Given the description of an element on the screen output the (x, y) to click on. 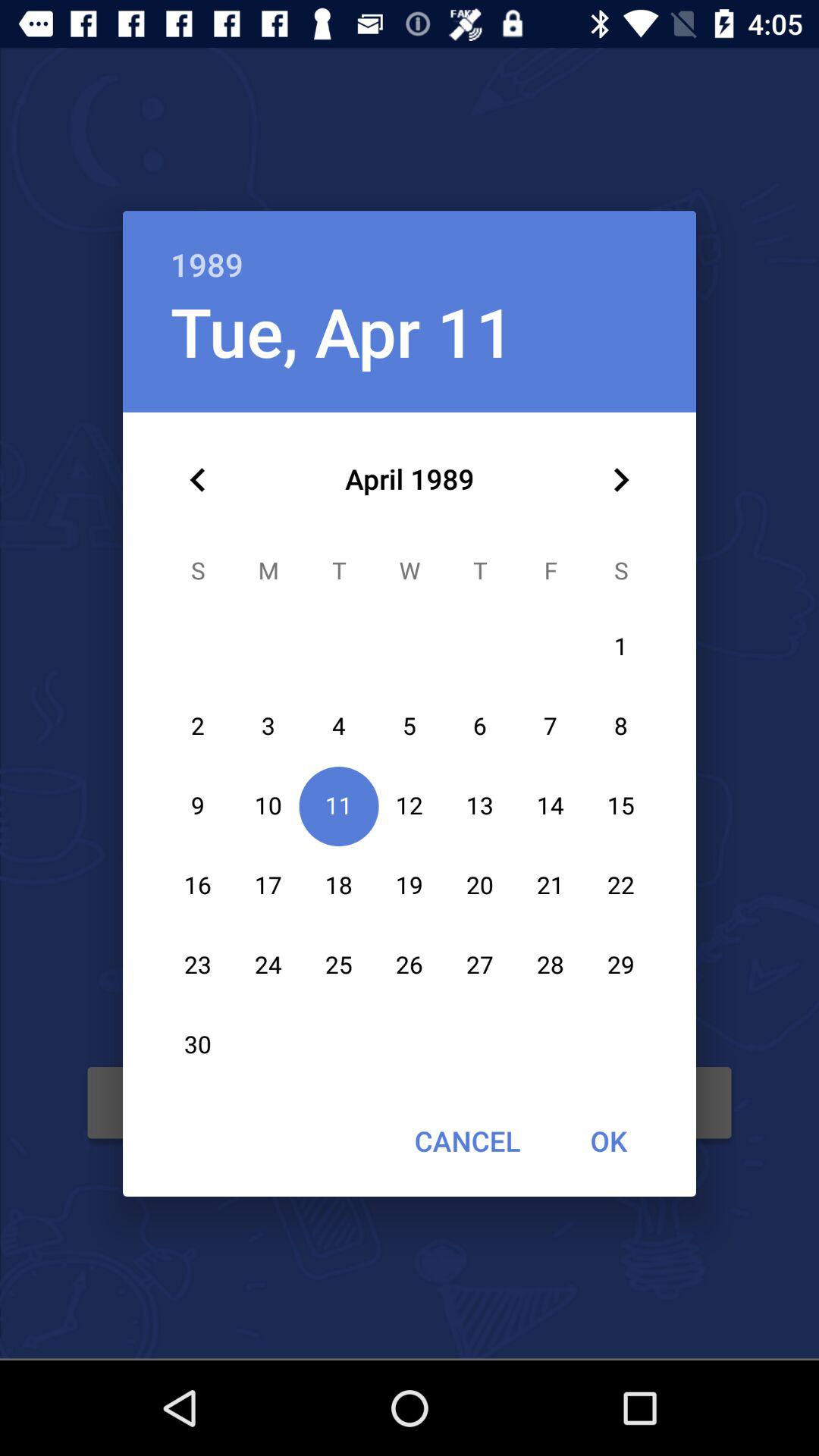
click the cancel item (467, 1140)
